Given the description of an element on the screen output the (x, y) to click on. 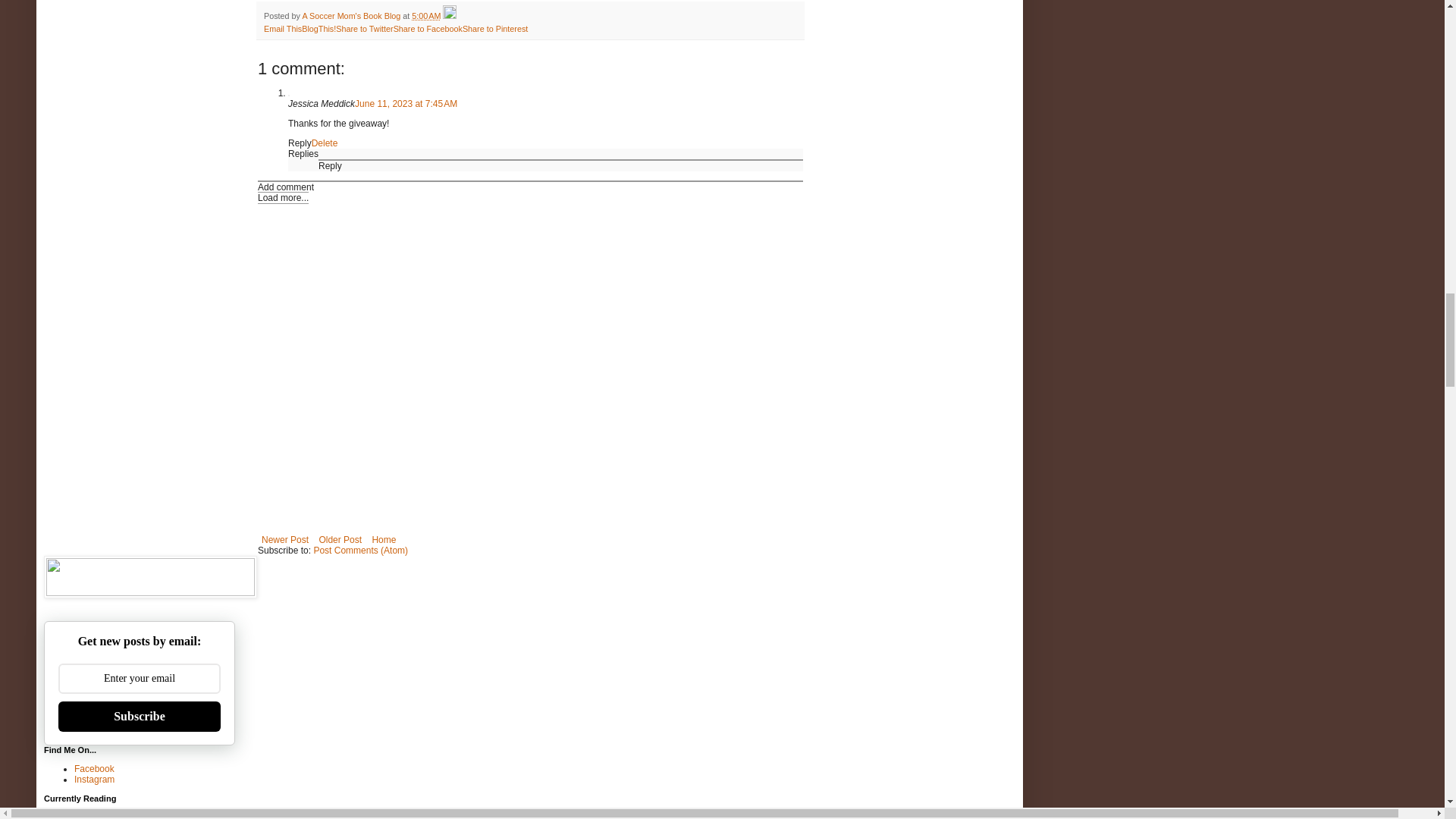
Email This (282, 28)
Home (383, 539)
Share to Facebook (428, 28)
Newer Post (285, 539)
Edit Post (449, 15)
Older Post (339, 539)
Share to Pinterest (495, 28)
Email This (282, 28)
Load more... (282, 197)
Older Post (339, 539)
Share to Pinterest (495, 28)
Share to Twitter (364, 28)
Delete (324, 143)
BlogThis! (318, 28)
